Given the description of an element on the screen output the (x, y) to click on. 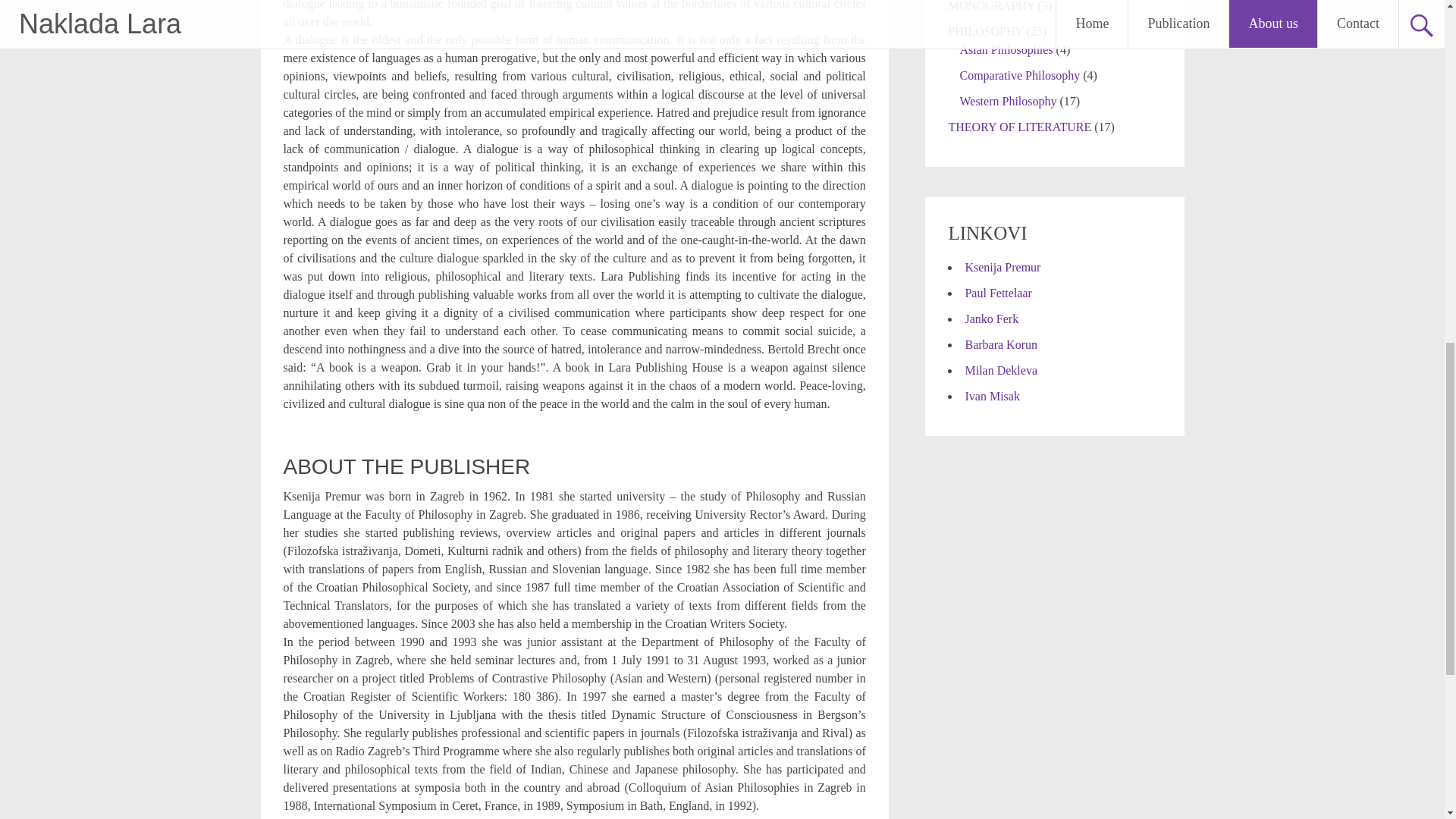
Ivan Misak (991, 395)
Janko Ferk (990, 318)
MONOGRAPHY (990, 6)
Western Philosophy (1008, 101)
Asian Philosophies (1005, 49)
PHILOSOPHY (985, 31)
Ksenija Premur (1002, 267)
THEORY OF LITERATURE (1018, 126)
Paul Fettelaar (996, 292)
Comparative Philosophy (1019, 74)
